Given the description of an element on the screen output the (x, y) to click on. 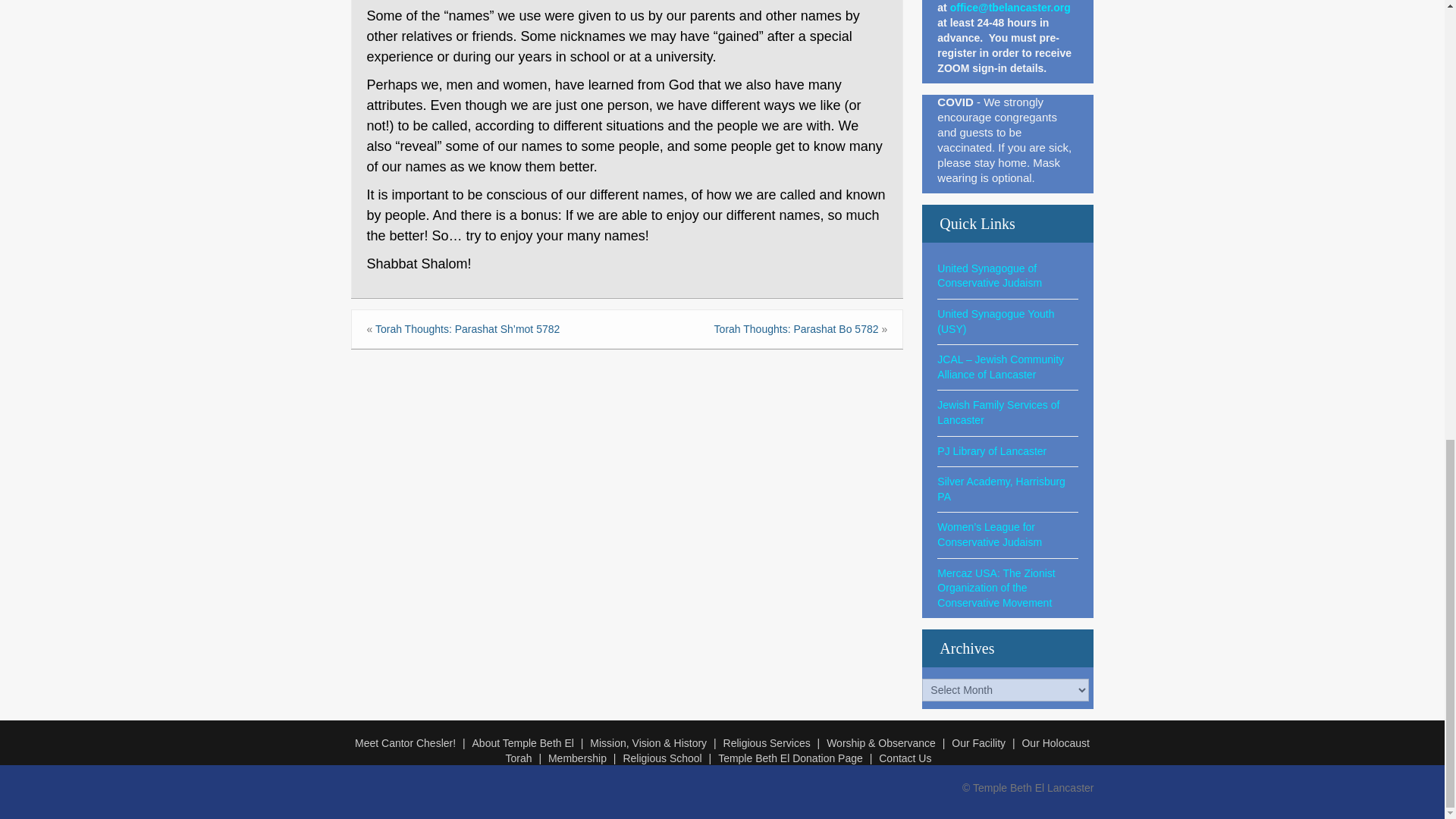
Torah Thoughts: Parashat Bo 5782 (796, 328)
United Synagogue of Conservative Judaism (989, 275)
PJ Library of Lancaster (991, 451)
Silver Academy, Harrisburg PA (1001, 488)
Jewish Family Services of Lancaster (998, 411)
